Given the description of an element on the screen output the (x, y) to click on. 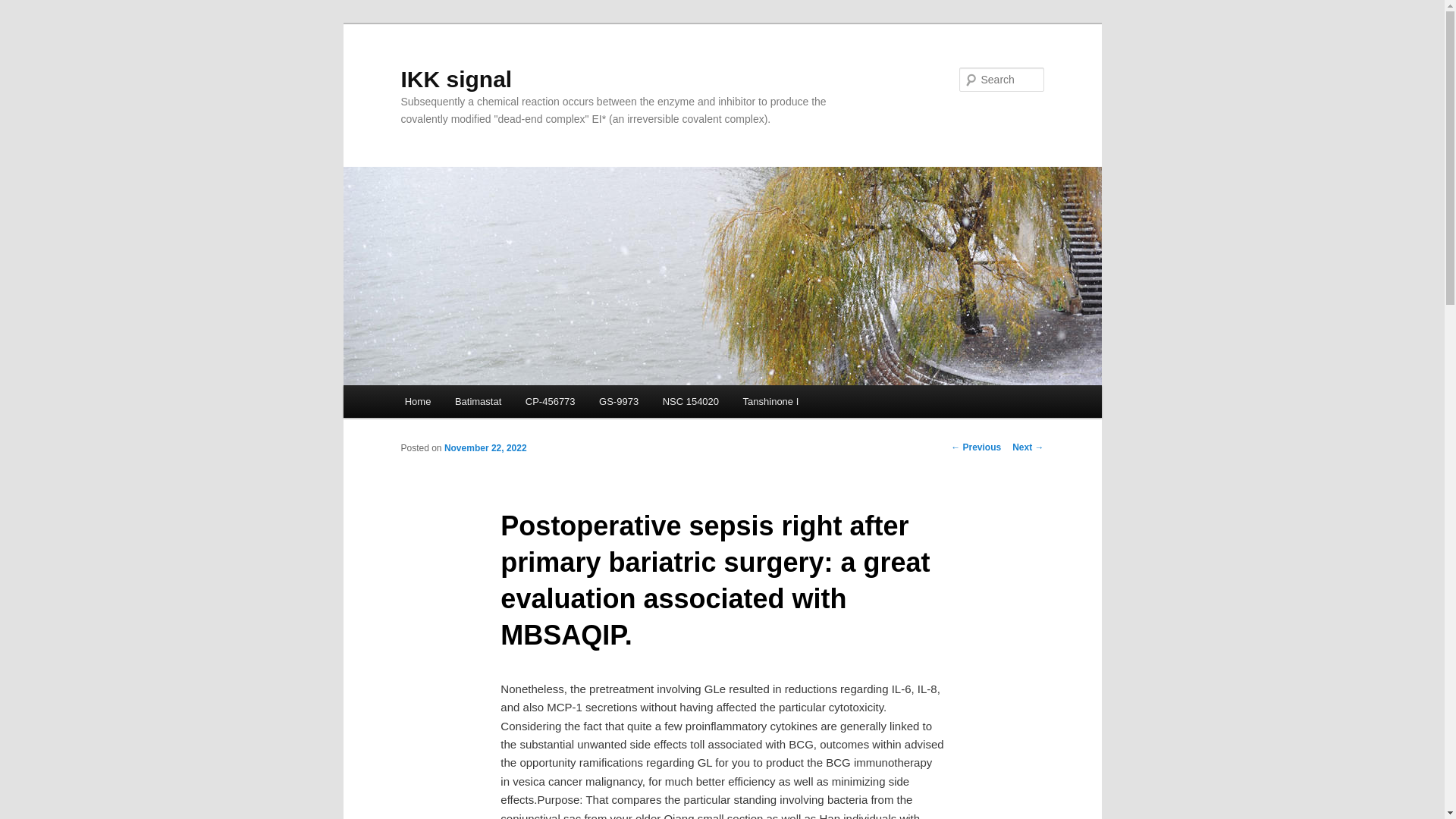
GS-9973 (618, 400)
Skip to primary content (472, 403)
IKK signal (456, 78)
10:24 am (485, 448)
Tanshinone I (770, 400)
Skip to primary content (472, 403)
IKK signal (456, 78)
Skip to secondary content (479, 403)
Home (417, 400)
Home (417, 400)
Skip to secondary content (479, 403)
November 22, 2022 (485, 448)
Search (24, 8)
Batimastat (477, 400)
NSC 154020 (690, 400)
